Given the description of an element on the screen output the (x, y) to click on. 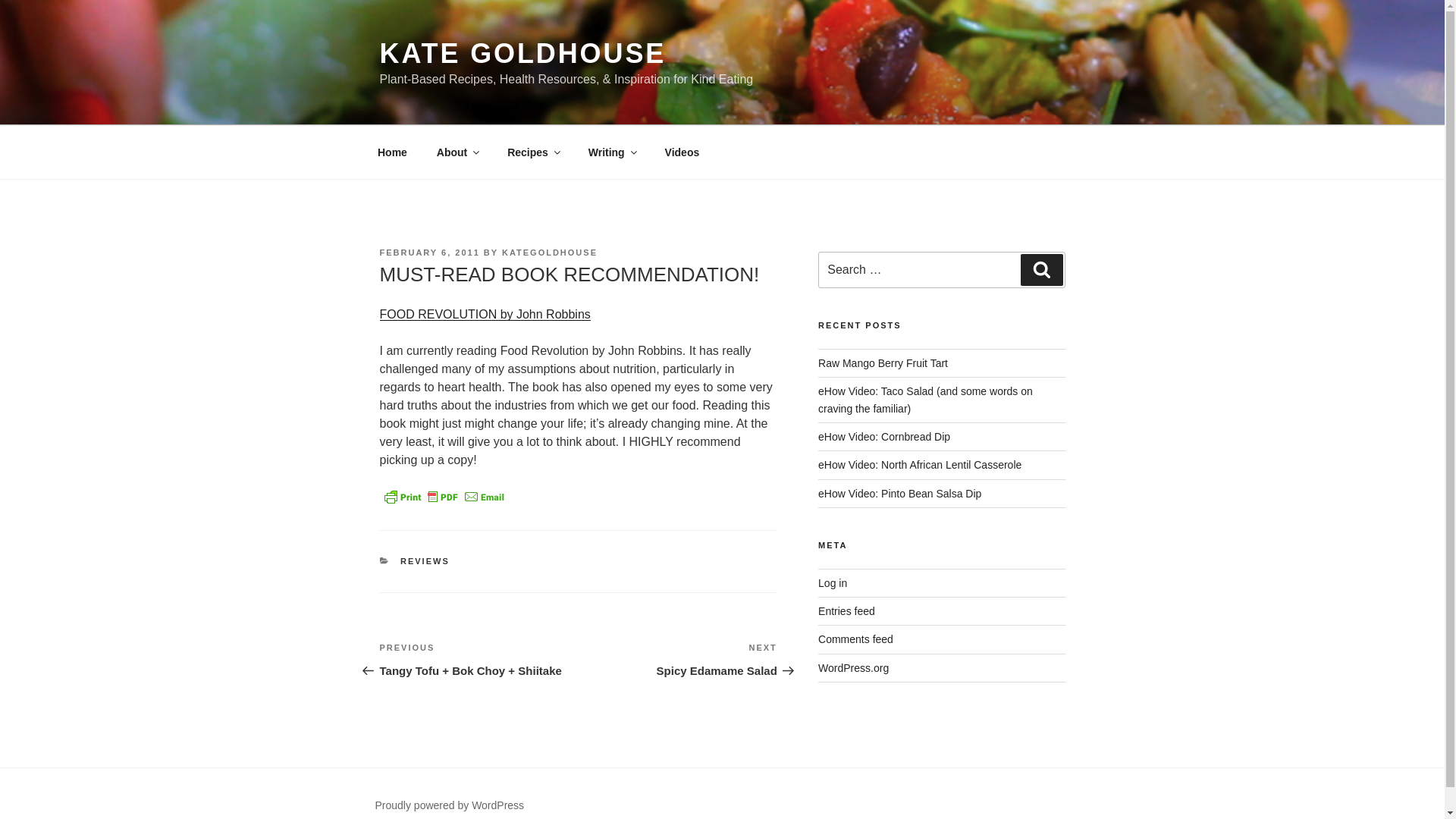
Home (392, 151)
FEBRUARY 6, 2011 (428, 252)
About (456, 151)
Writing (611, 151)
Recipes (533, 151)
KATEGOLDHOUSE (549, 252)
KATE GOLDHOUSE (521, 52)
Videos (681, 151)
FOOD REVOLUTION by John Robbins (483, 314)
